Given the description of an element on the screen output the (x, y) to click on. 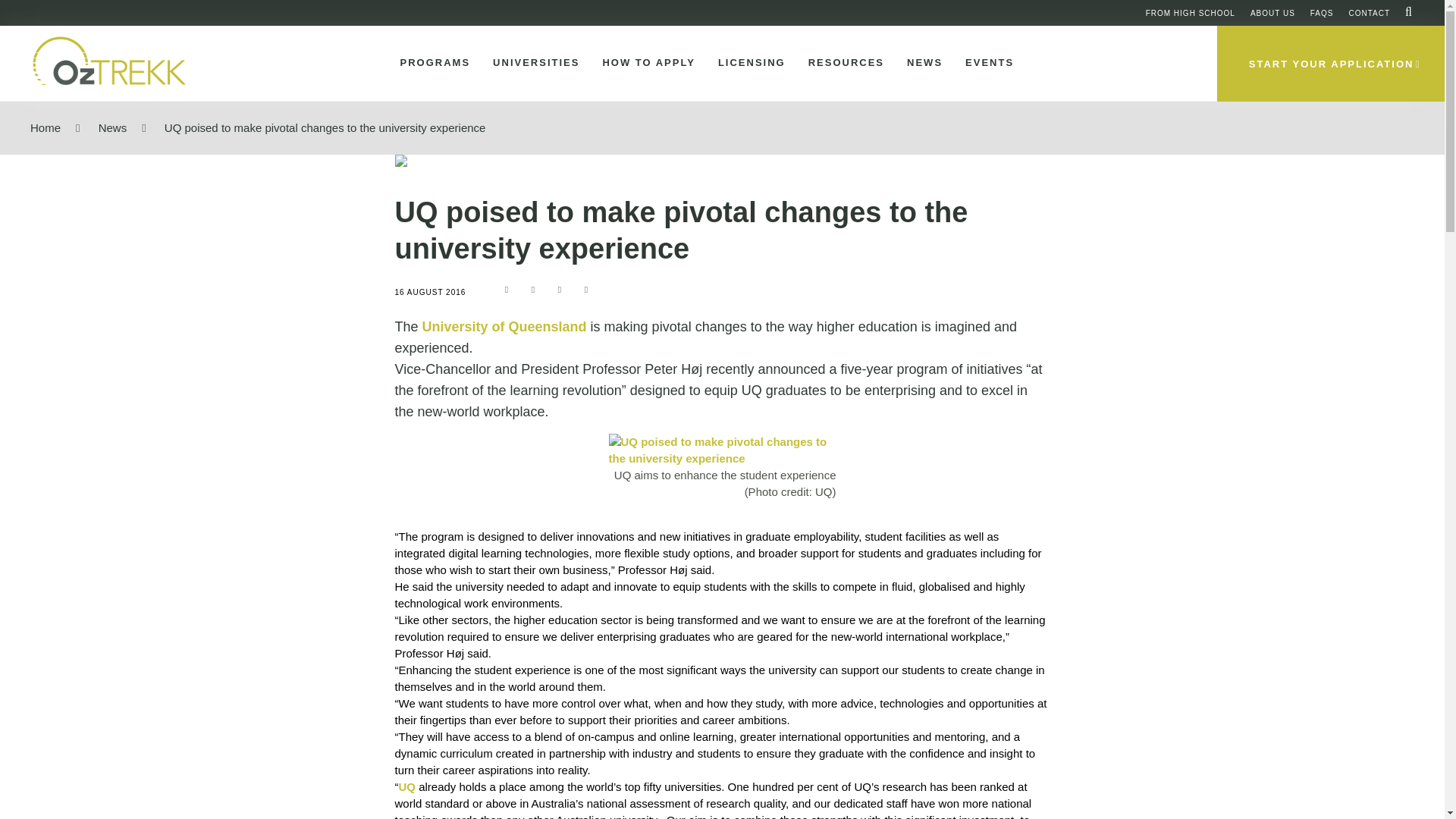
CONTACT (1369, 13)
FAQS (1321, 13)
FROM HIGH SCHOOL (1189, 13)
ABOUT US (1272, 13)
Find out more about UQ (504, 326)
PROGRAMS (432, 63)
Find out more about UQ (407, 786)
Find out more about UQ (721, 450)
